Given the description of an element on the screen output the (x, y) to click on. 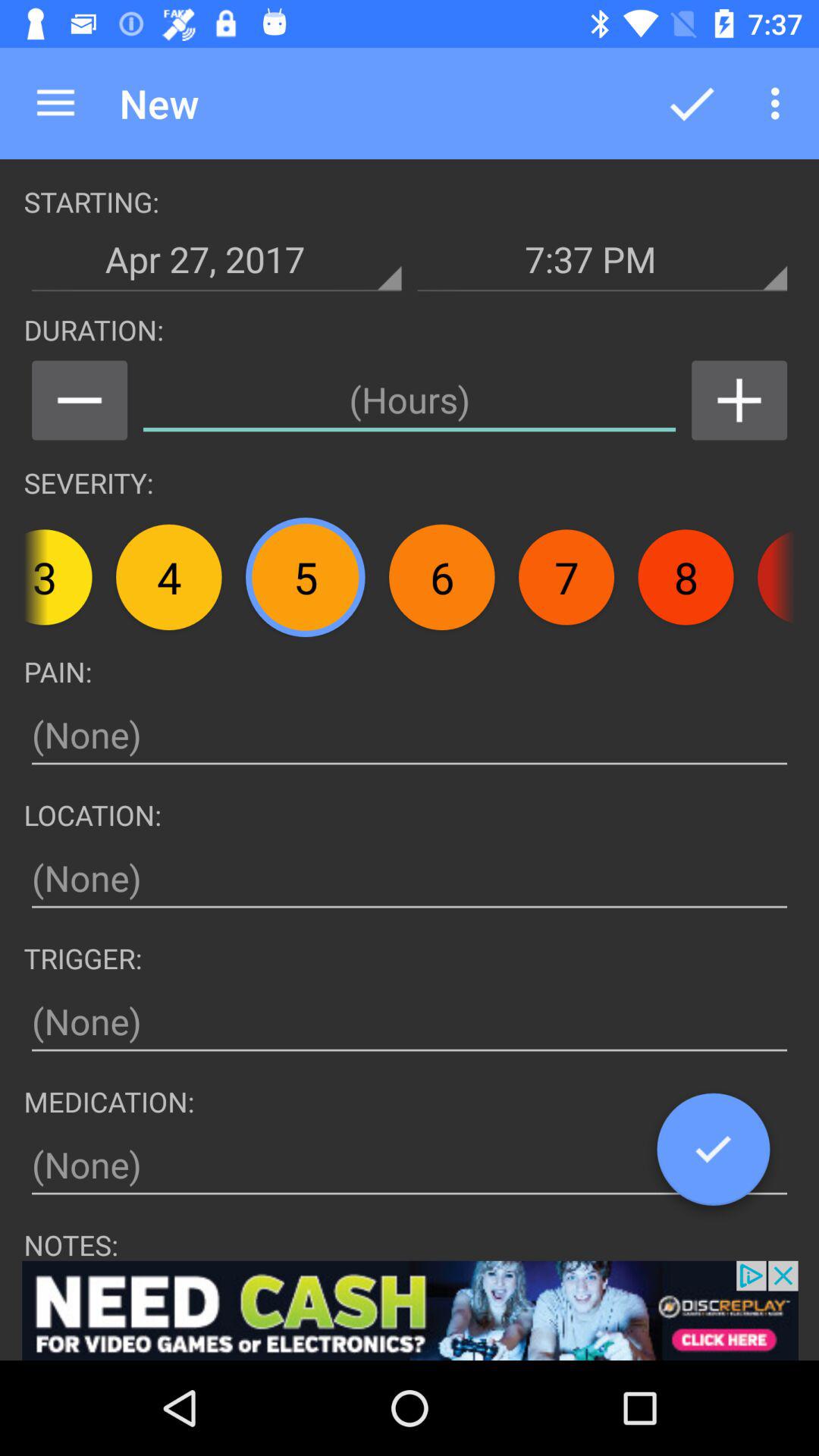
increment option (739, 400)
